Given the description of an element on the screen output the (x, y) to click on. 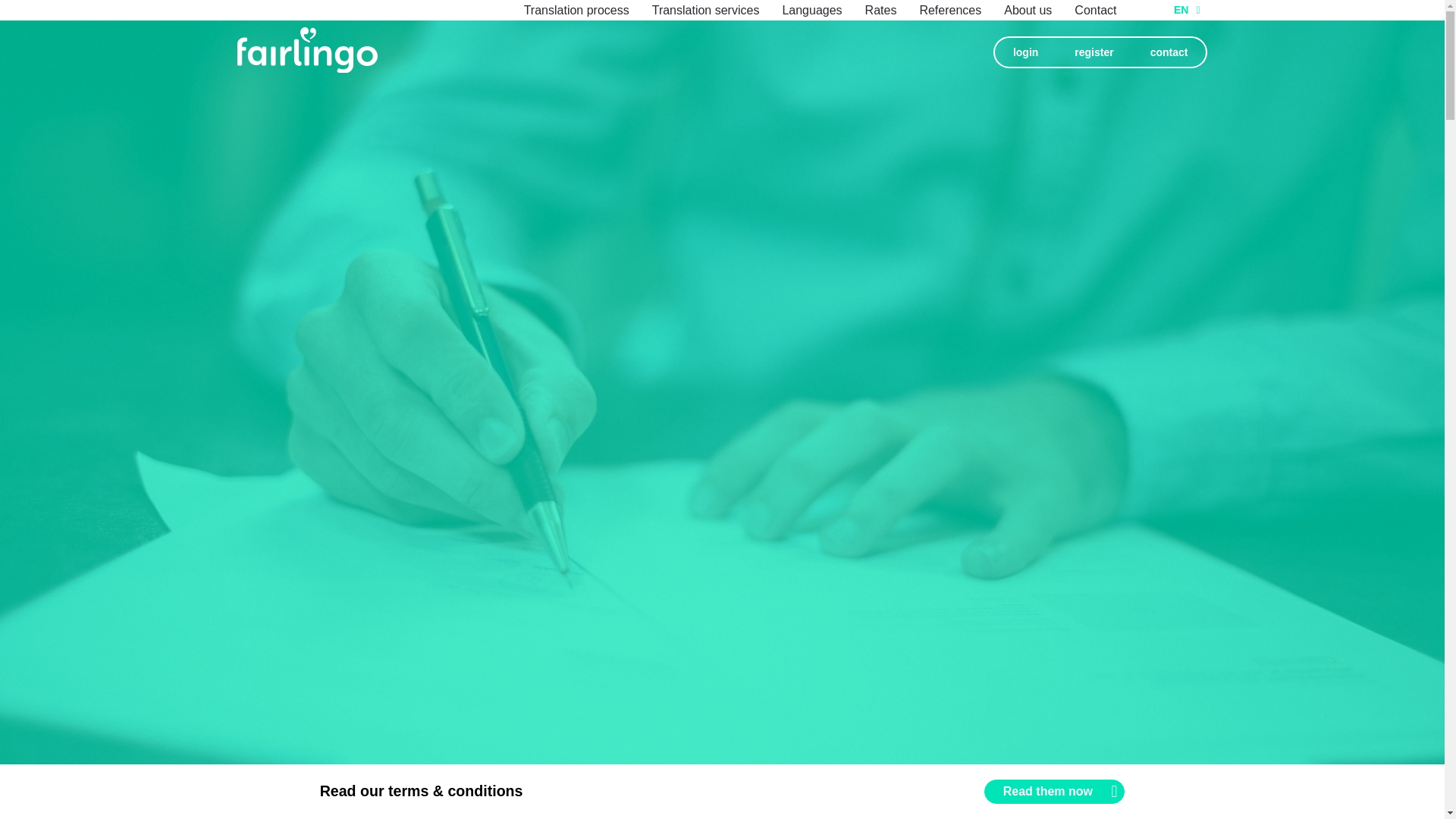
Read them now (1054, 791)
